Given the description of an element on the screen output the (x, y) to click on. 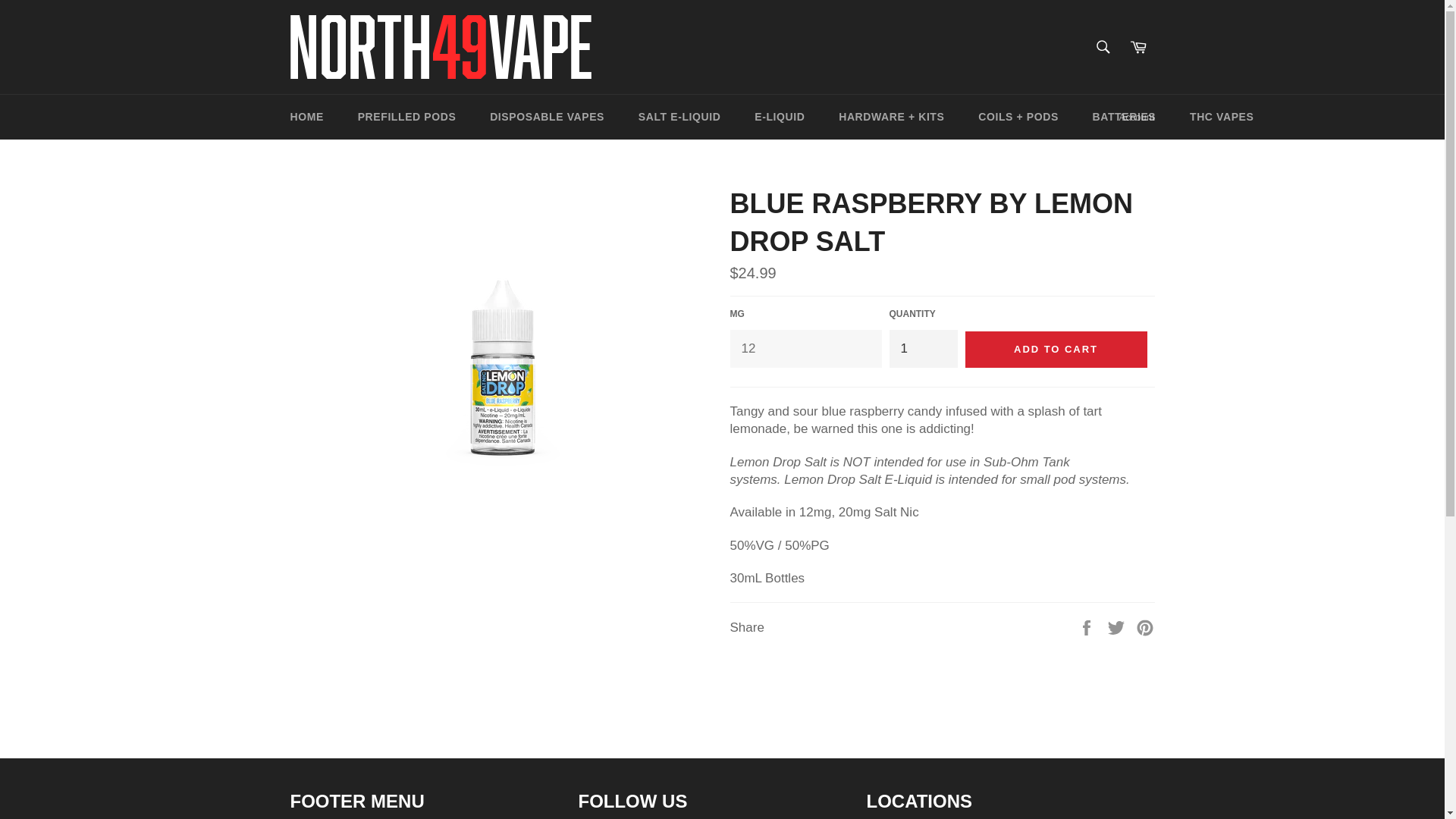
BATTERIES (1124, 117)
Pin on Pinterest (1144, 626)
Tweet on Twitter (1117, 626)
1 (922, 348)
Pin on Pinterest (1144, 626)
Search (1103, 47)
Account (1136, 117)
HOME (306, 117)
Tweet on Twitter (1117, 626)
E-LIQUID (779, 117)
